Given the description of an element on the screen output the (x, y) to click on. 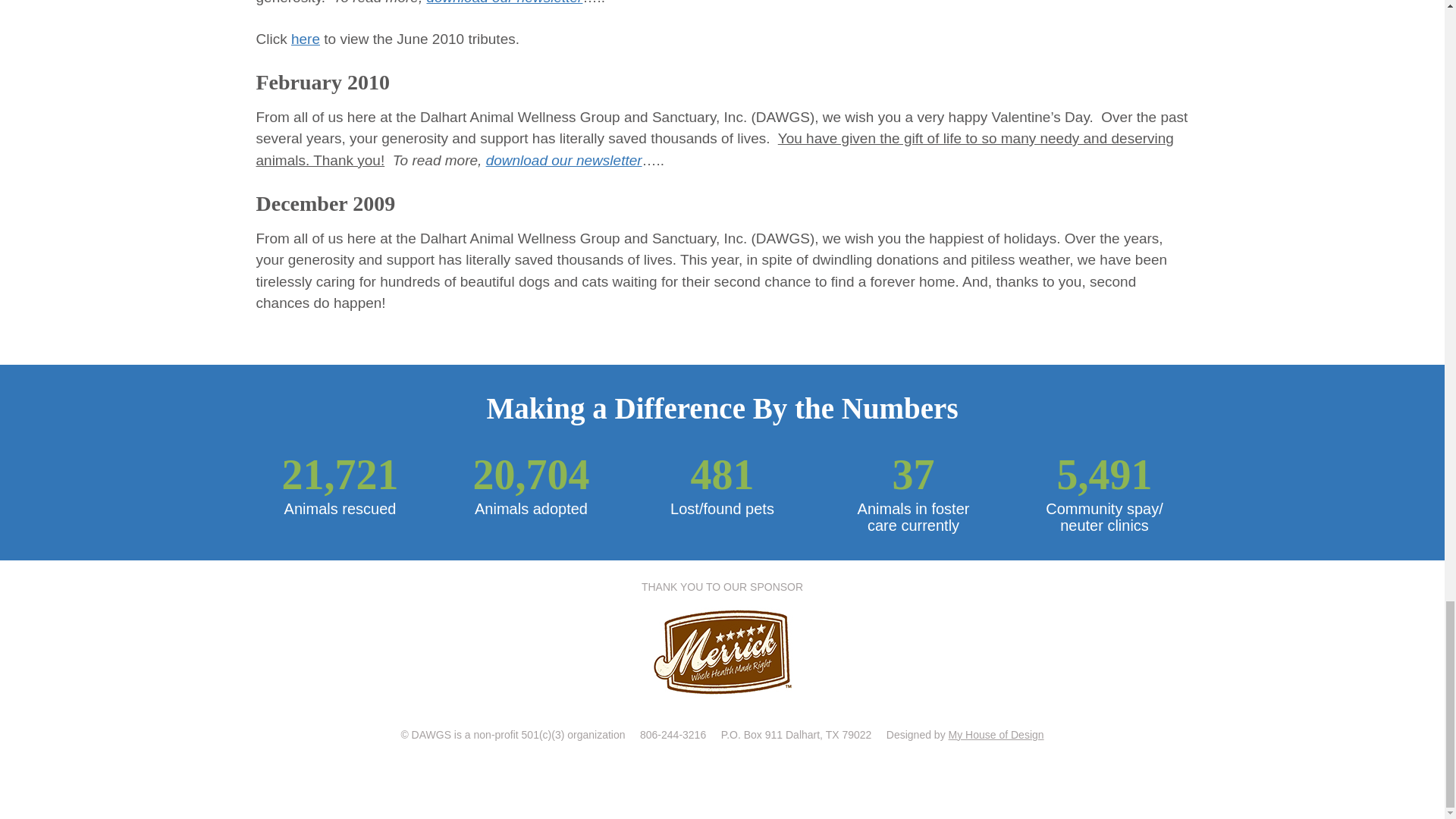
806-244-3216 (673, 734)
download our newsletter (504, 2)
here (305, 38)
download our newsletter (564, 160)
